Given the description of an element on the screen output the (x, y) to click on. 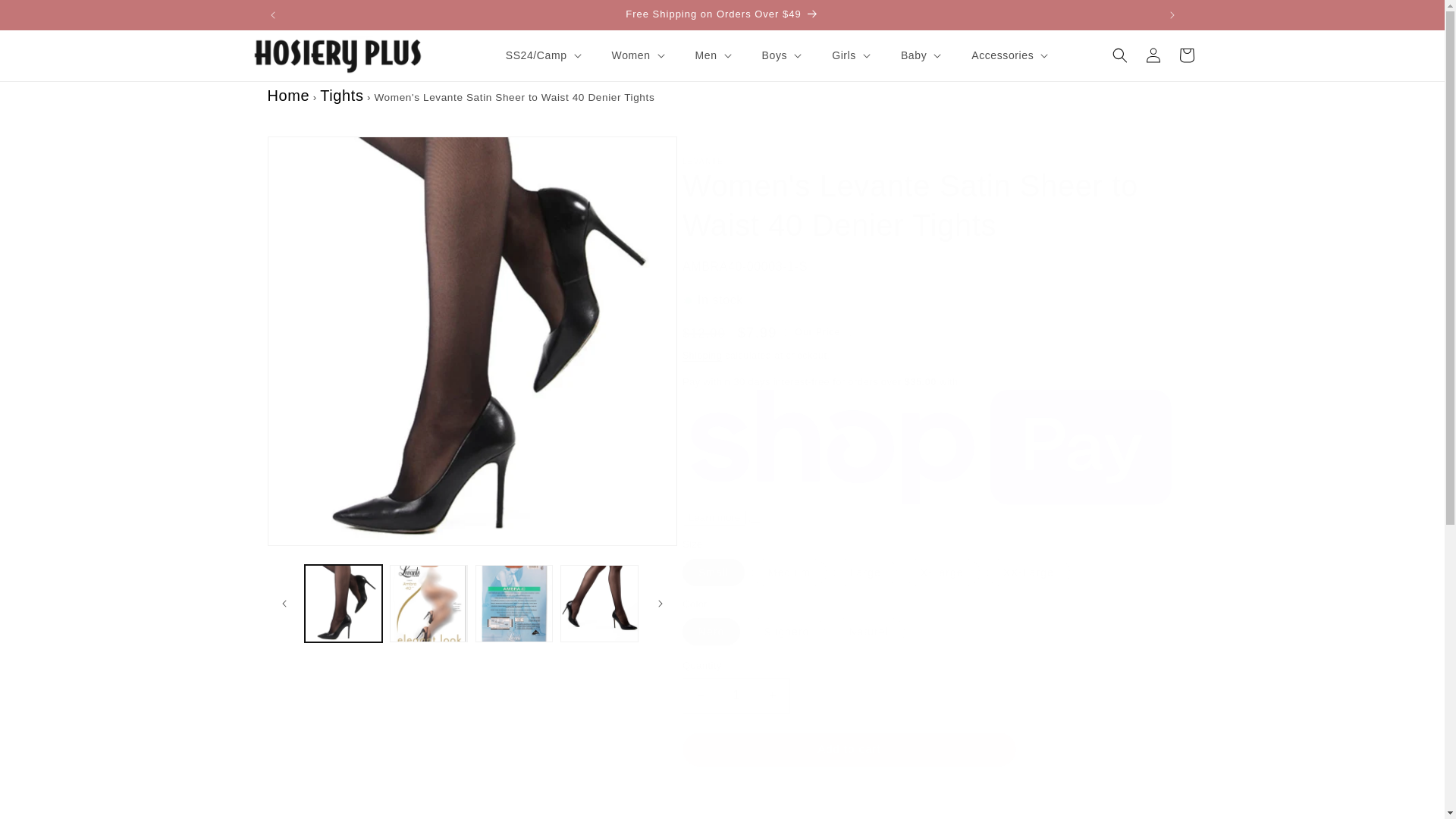
Skip to content (45, 16)
1 (736, 695)
Tights (341, 95)
